Given the description of an element on the screen output the (x, y) to click on. 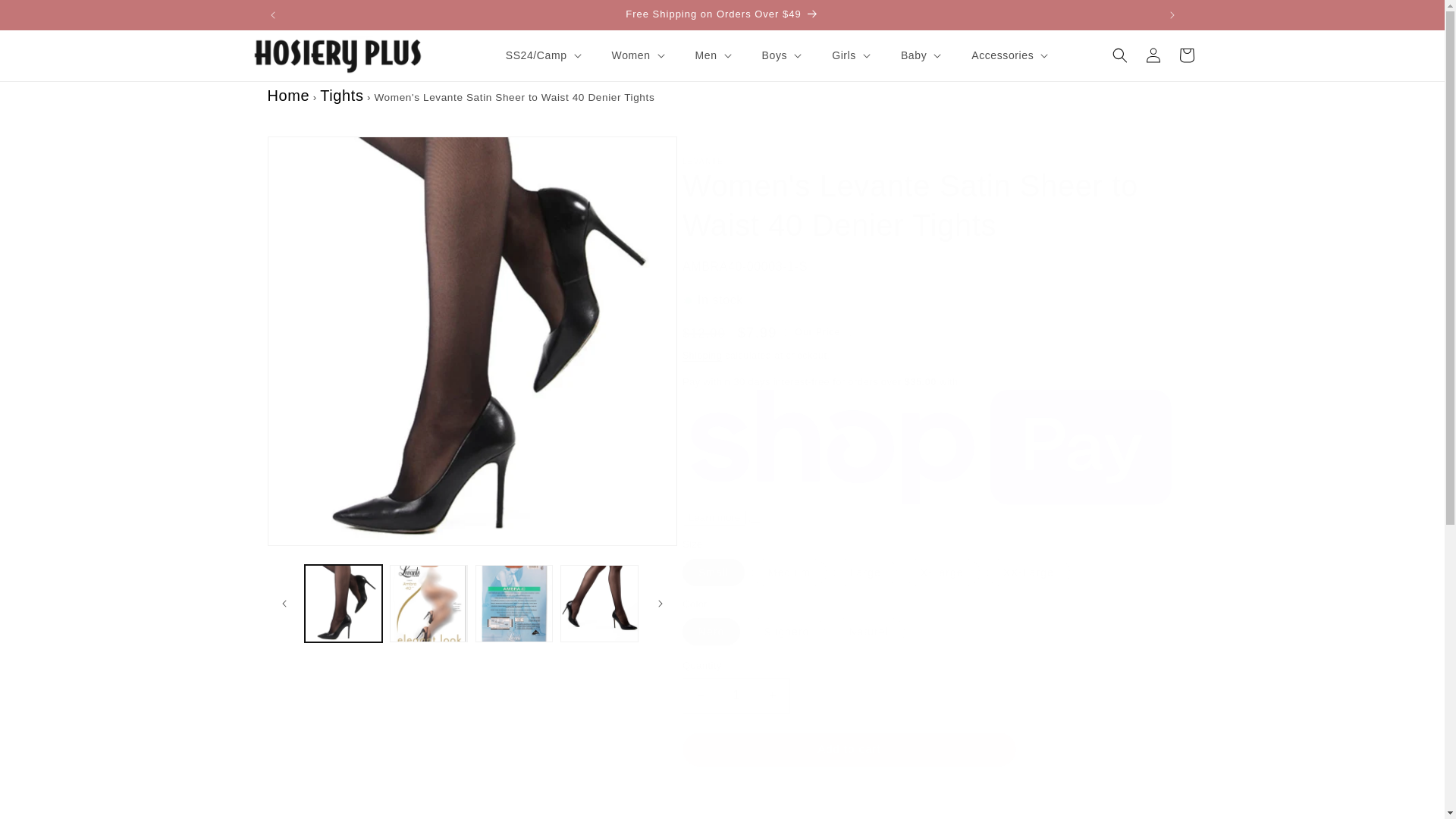
Skip to content (45, 16)
1 (736, 695)
Tights (341, 95)
